Given the description of an element on the screen output the (x, y) to click on. 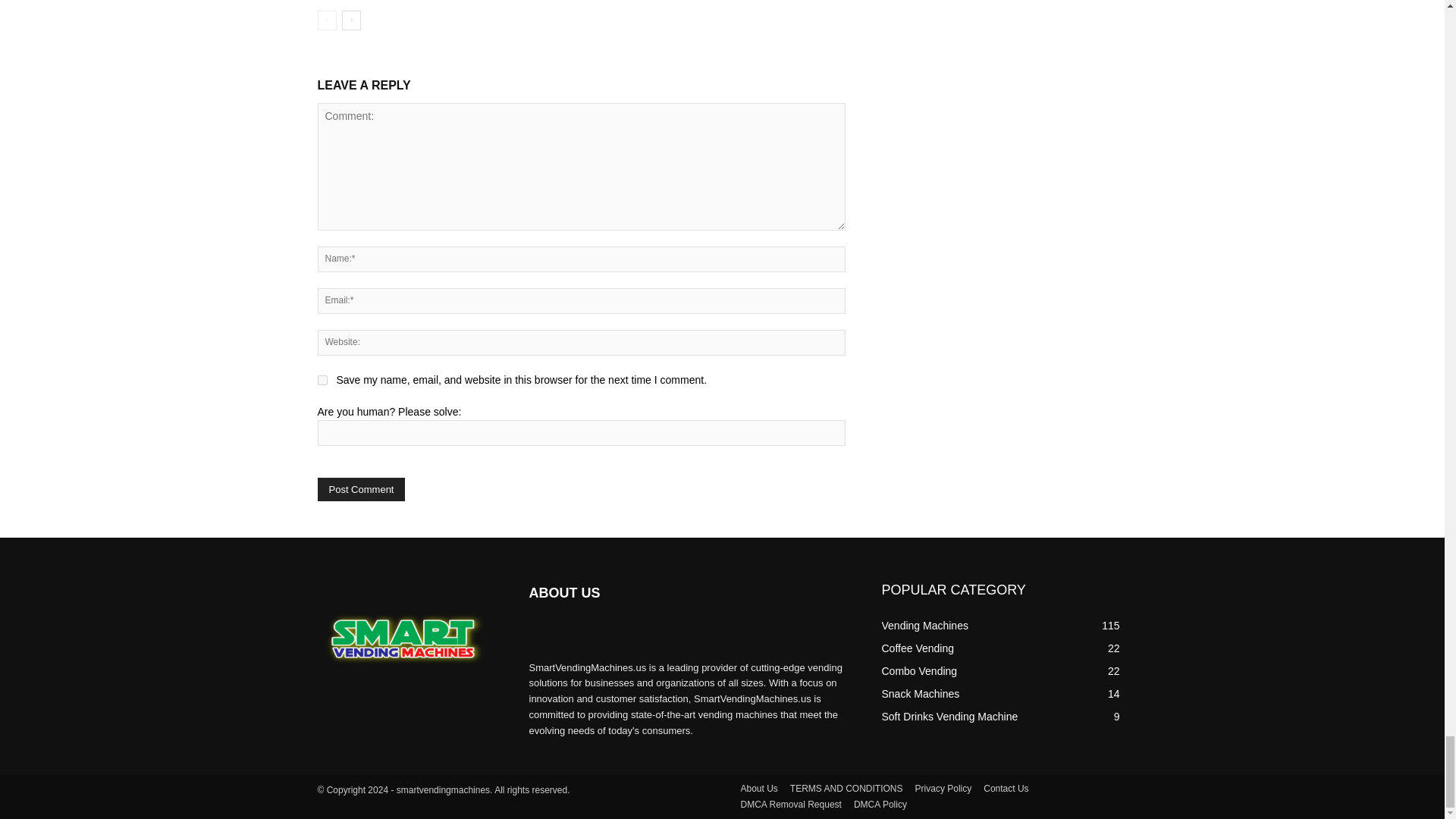
yes (321, 379)
Post Comment (360, 489)
